Given the description of an element on the screen output the (x, y) to click on. 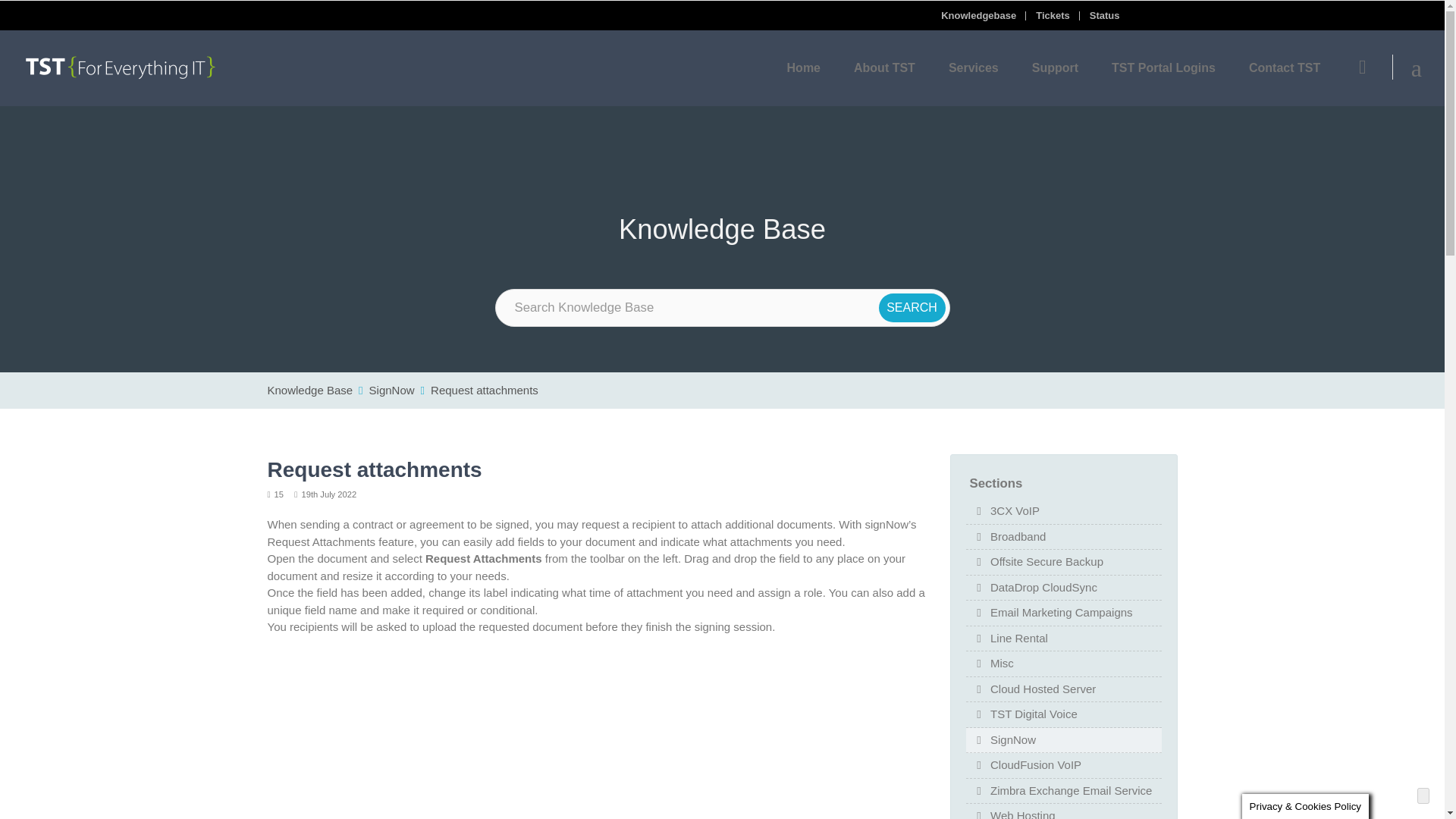
Services (973, 68)
About TST (884, 68)
Status (1109, 15)
Search (910, 307)
Knowledgebase (983, 15)
Contact TST (1284, 68)
TST Portal Logins (1163, 68)
Tickets (1057, 15)
Support (1054, 68)
